Given the description of an element on the screen output the (x, y) to click on. 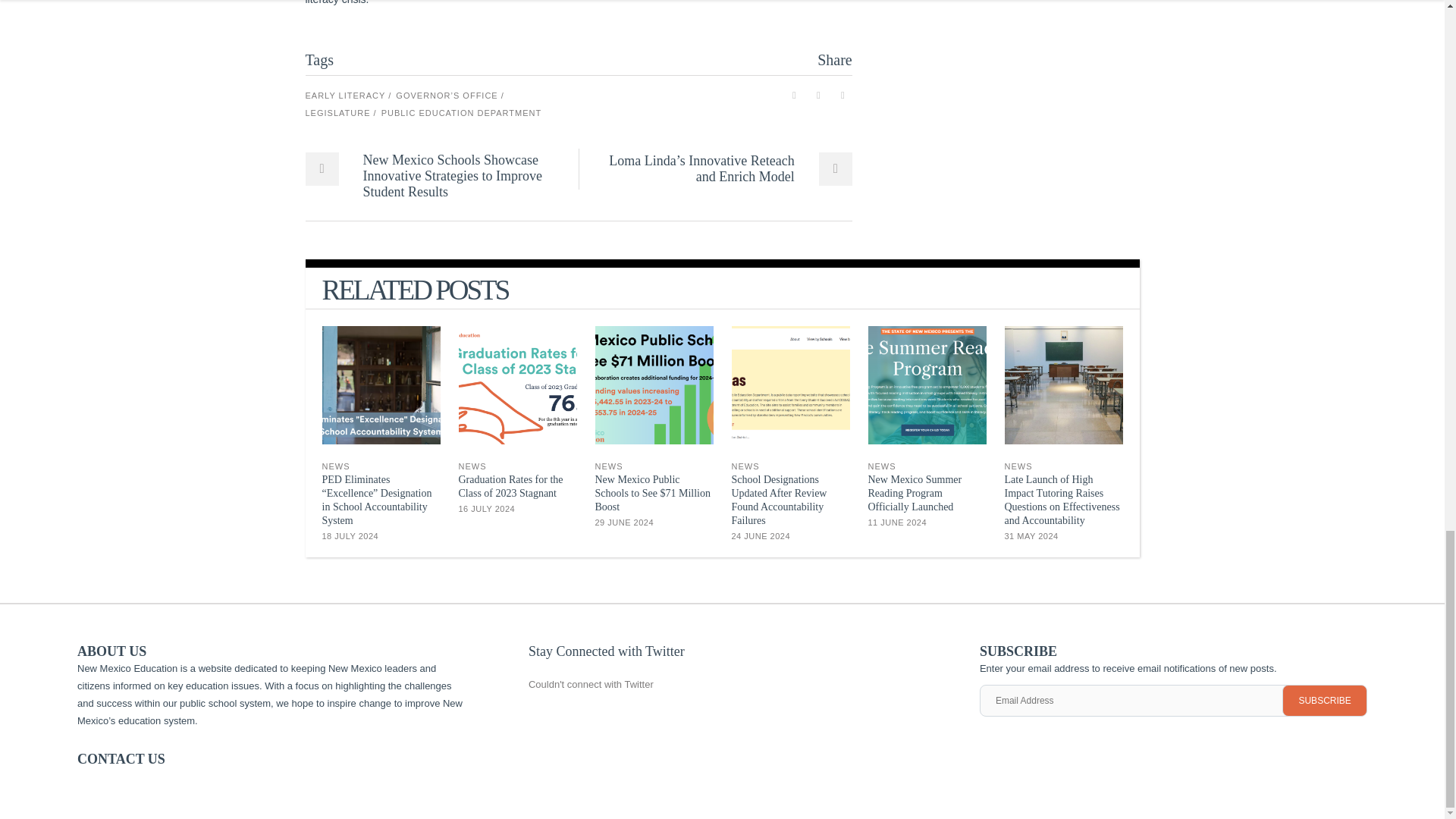
EARLY LITERACY (347, 95)
PUBLIC EDUCATION DEPARTMENT (461, 113)
LEGISLATURE (339, 113)
